Given the description of an element on the screen output the (x, y) to click on. 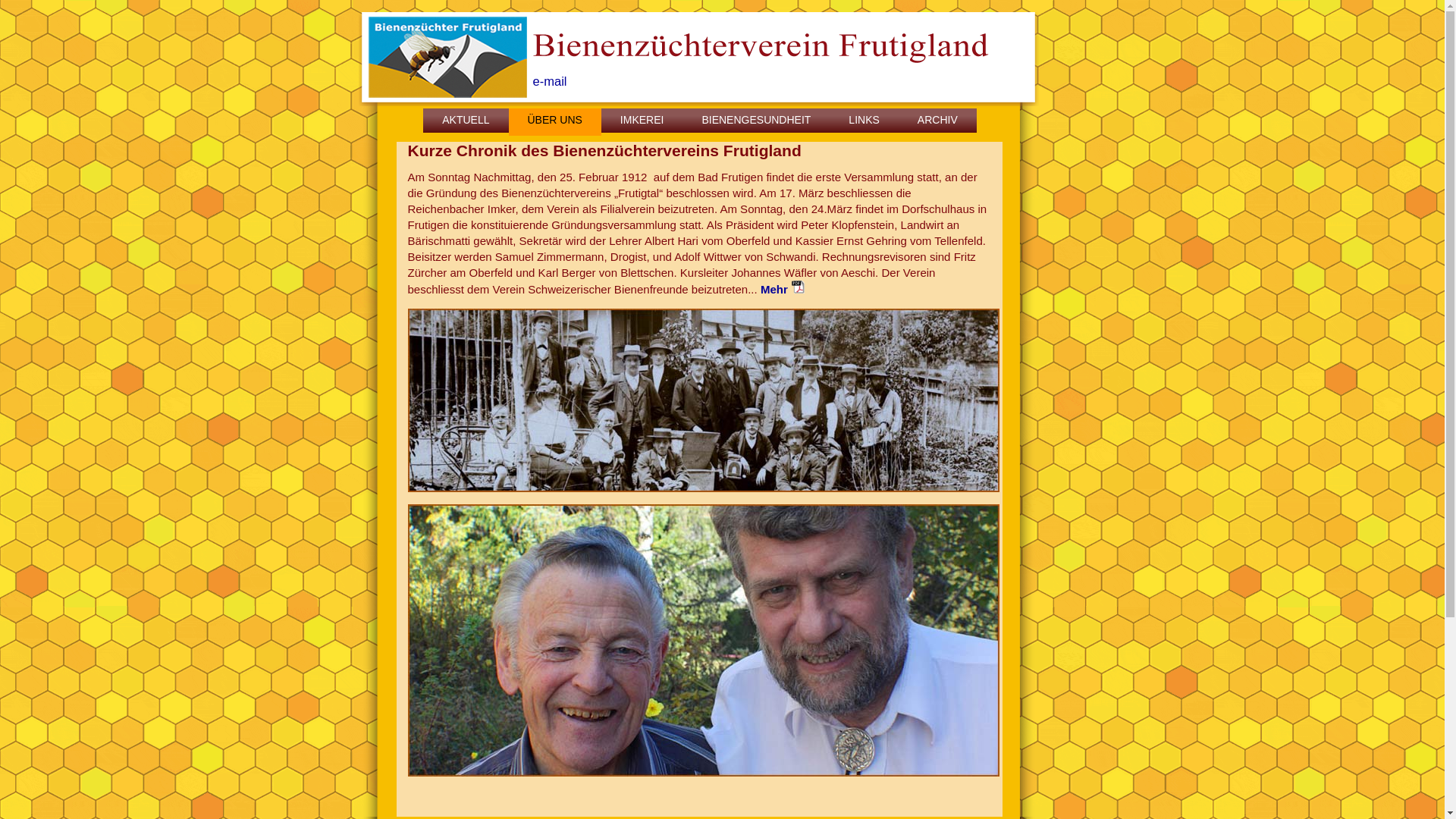
AKTUELL Element type: text (465, 121)
e-mail Element type: text (549, 81)
Mehr    Element type: text (784, 288)
BIENENGESUNDHEIT Element type: text (755, 121)
LINKS Element type: text (863, 121)
ARCHIV Element type: text (937, 121)
IMKEREI Element type: text (642, 121)
